Given the description of an element on the screen output the (x, y) to click on. 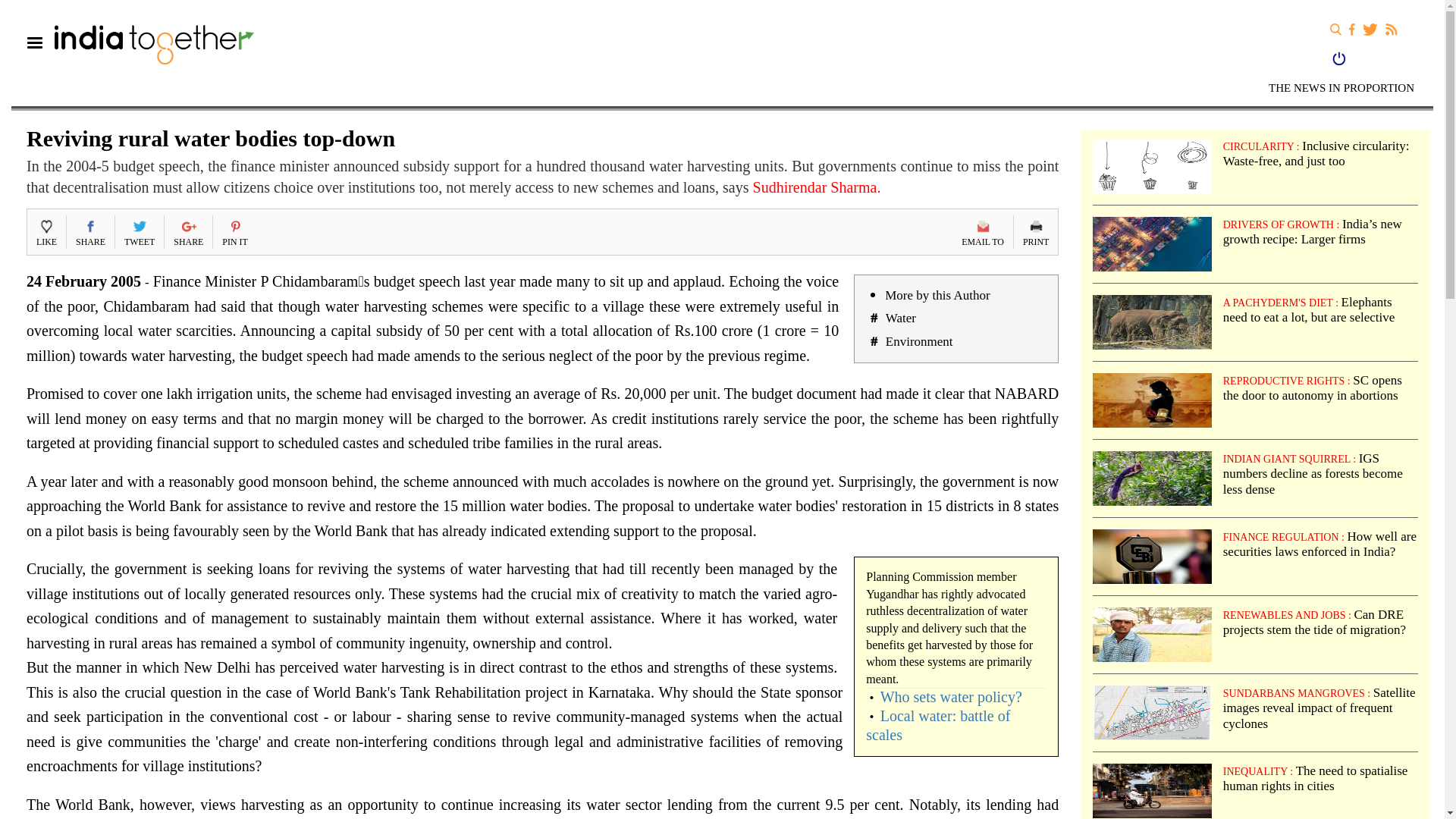
More by this Author (937, 295)
CIRCULARITY : (1262, 145)
TWEET (138, 231)
Who sets water policy? (951, 696)
Environment (919, 341)
More by this Author (937, 295)
Elephants need to eat a lot, but are selective (1308, 309)
ENVIRONMENT (65, 113)
Local water: battle of scales (938, 724)
Water (900, 318)
DRIVERS OF GROWTH : (1282, 223)
Inclusive circularity: Waste-free, and just too (1316, 153)
EMAIL TO (982, 231)
A PACHYDERM'S DIET : (1281, 301)
